Given the description of an element on the screen output the (x, y) to click on. 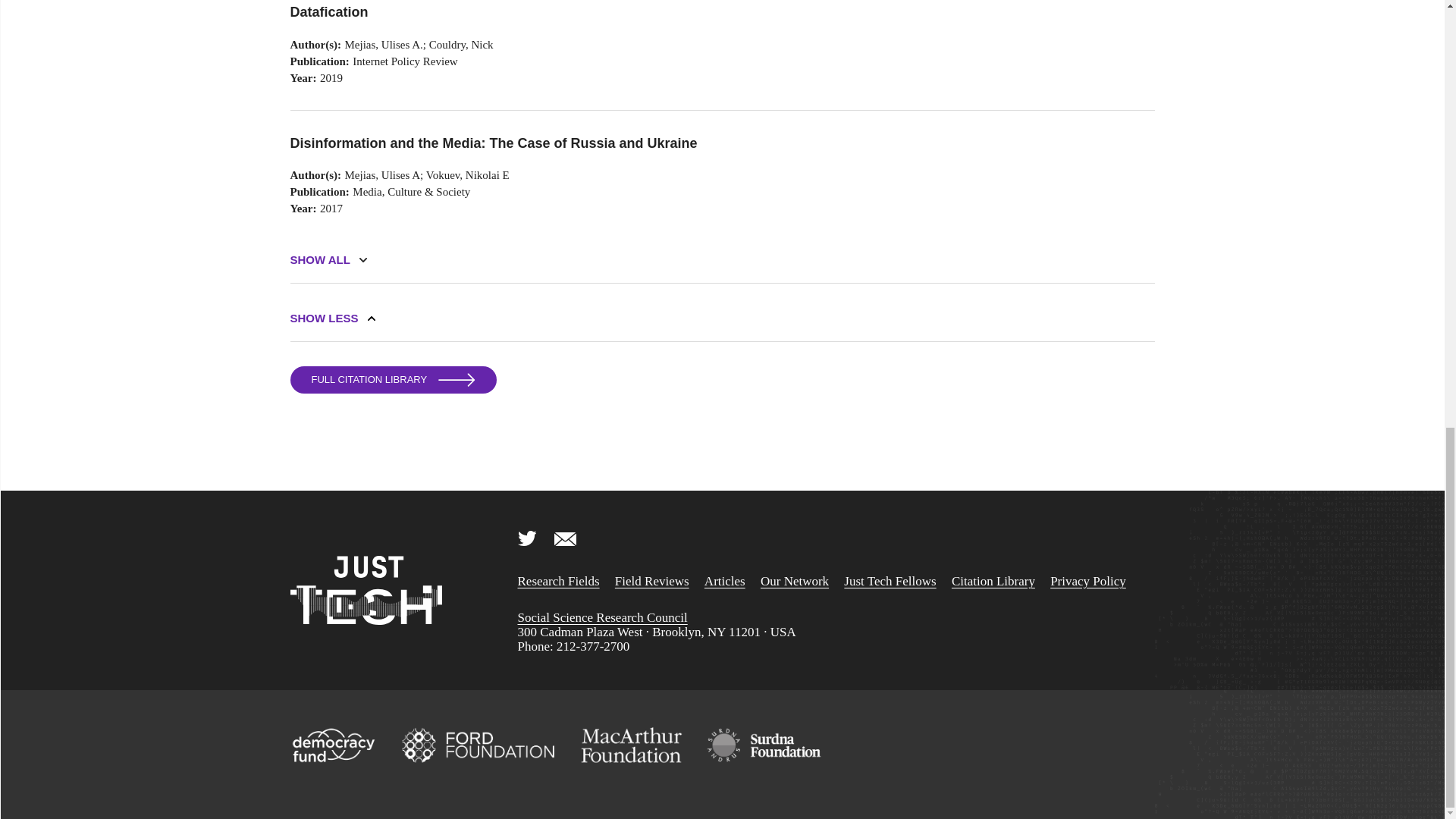
SHOW LESS (323, 318)
Articles (724, 581)
Research Fields (557, 581)
SHOW ALL (319, 259)
Just Tech Fellows (890, 581)
Datafication (592, 12)
Field Reviews (651, 581)
Citation Library (993, 581)
Our Network (794, 581)
Privacy Policy (1087, 581)
FULL CITATION LIBRARY (392, 379)
Disinformation and the Media: The Case of Russia and Ukraine (592, 143)
